Given the description of an element on the screen output the (x, y) to click on. 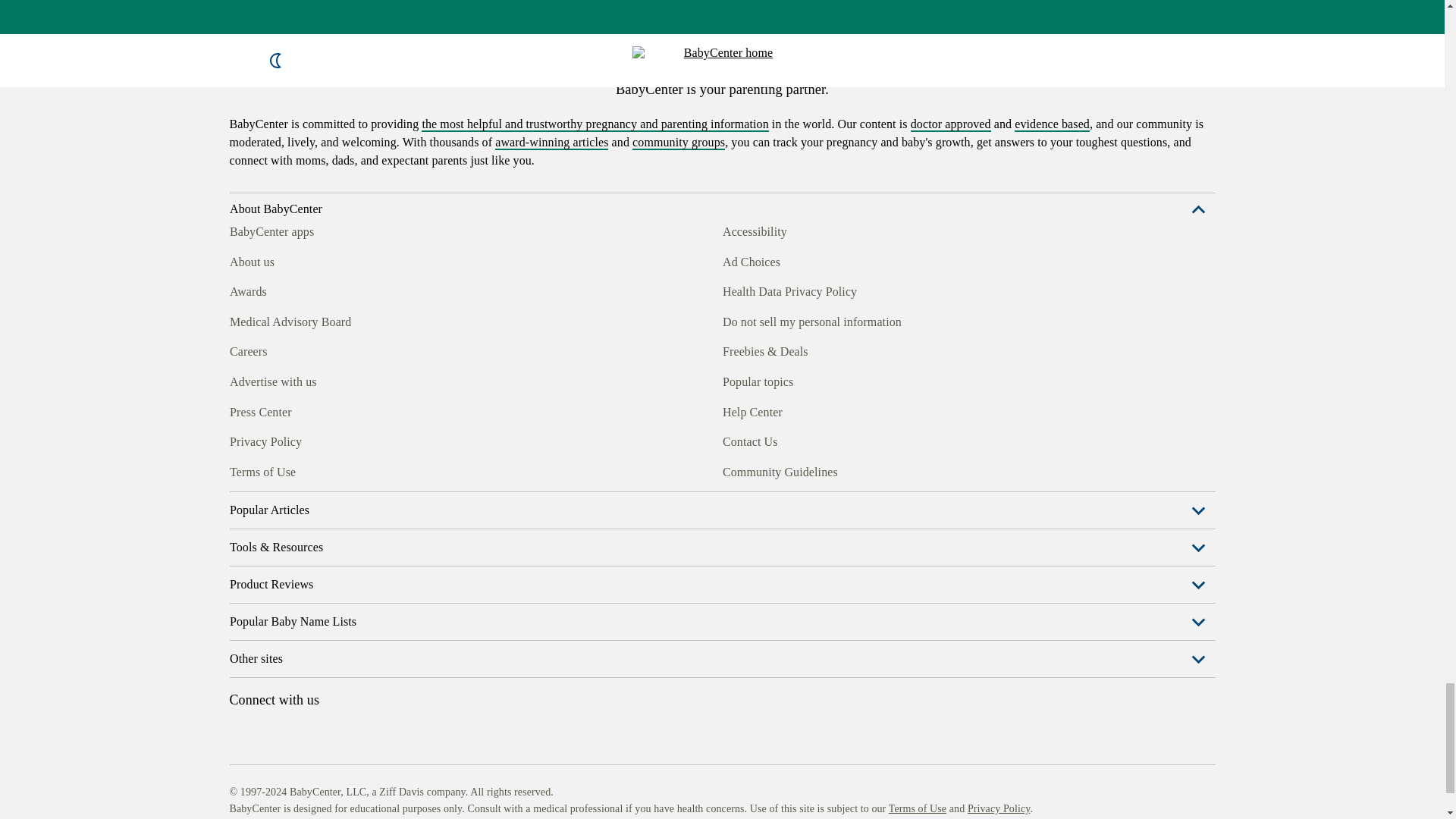
BabyCenter Pinterest board (309, 215)
BabyCenter YouTube channel (344, 215)
BabyCenter Facebook page (239, 215)
BabyCenter Instagram feed (274, 215)
BabyCenter Twitter feed (379, 215)
